Given the description of an element on the screen output the (x, y) to click on. 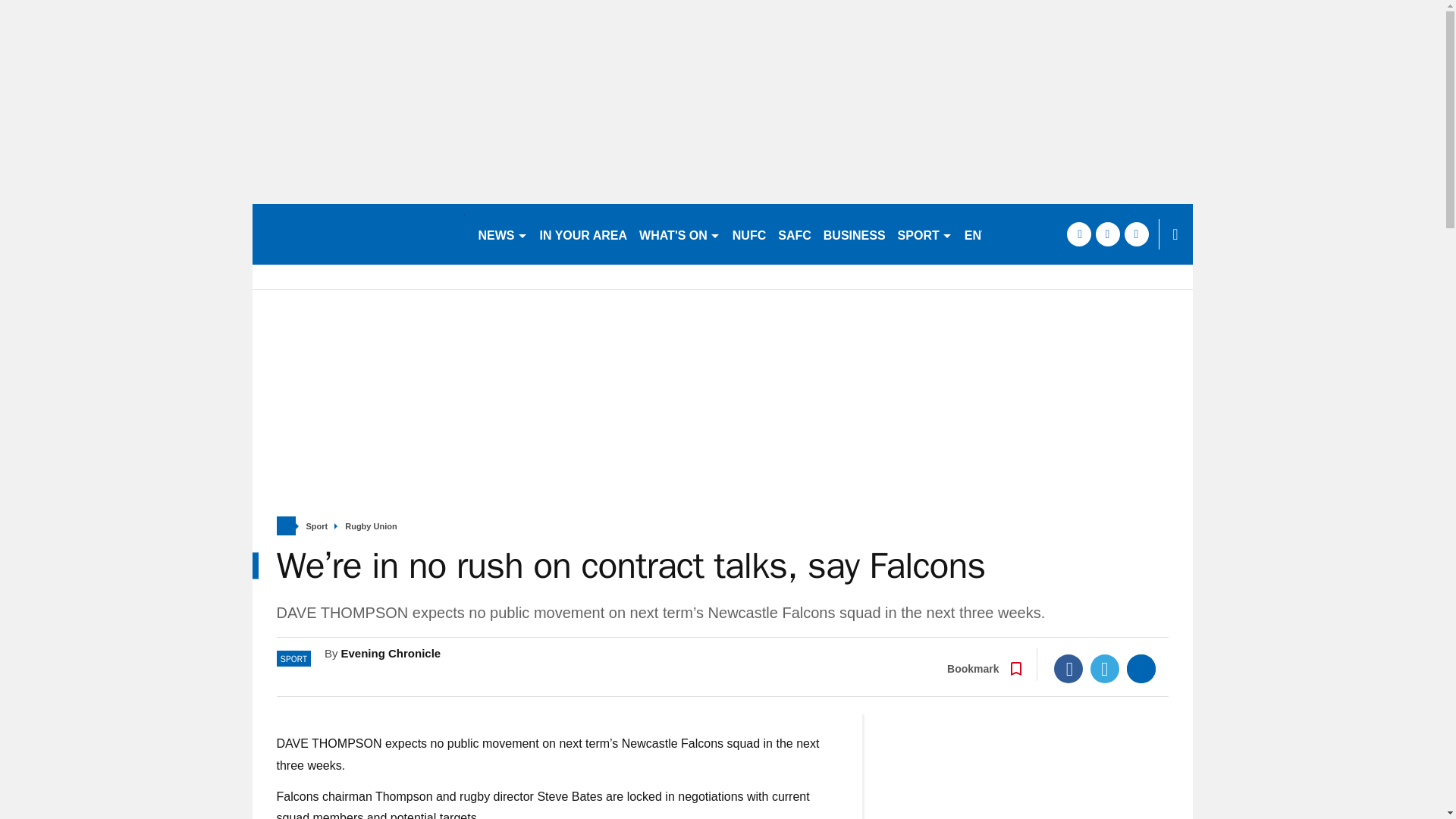
nechronicle (357, 233)
twitter (1106, 233)
BUSINESS (853, 233)
NEWS (501, 233)
IN YOUR AREA (583, 233)
Twitter (1104, 668)
facebook (1077, 233)
Facebook (1068, 668)
instagram (1136, 233)
SPORT (924, 233)
